Given the description of an element on the screen output the (x, y) to click on. 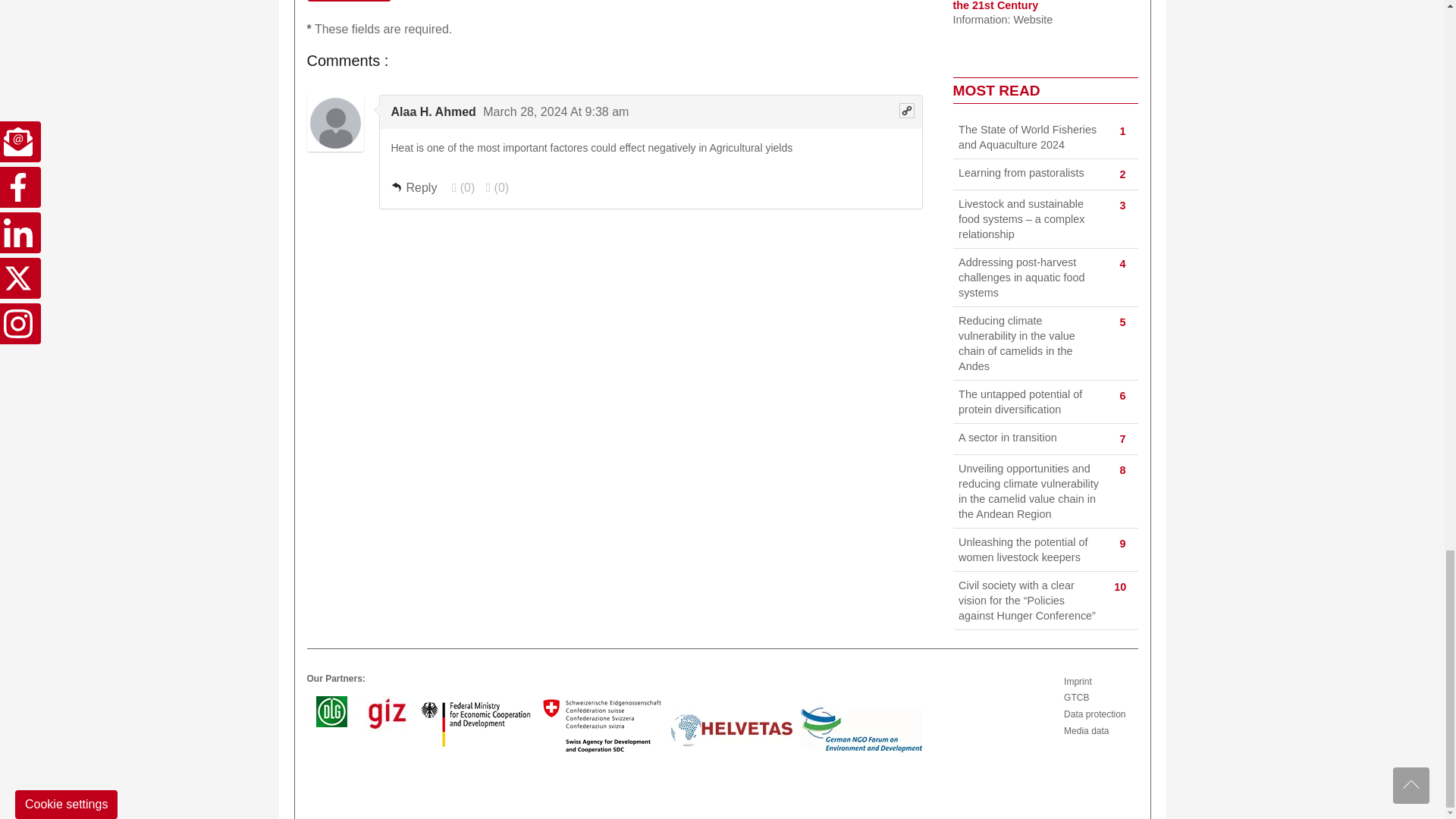
Post comment (348, 0)
